Given the description of an element on the screen output the (x, y) to click on. 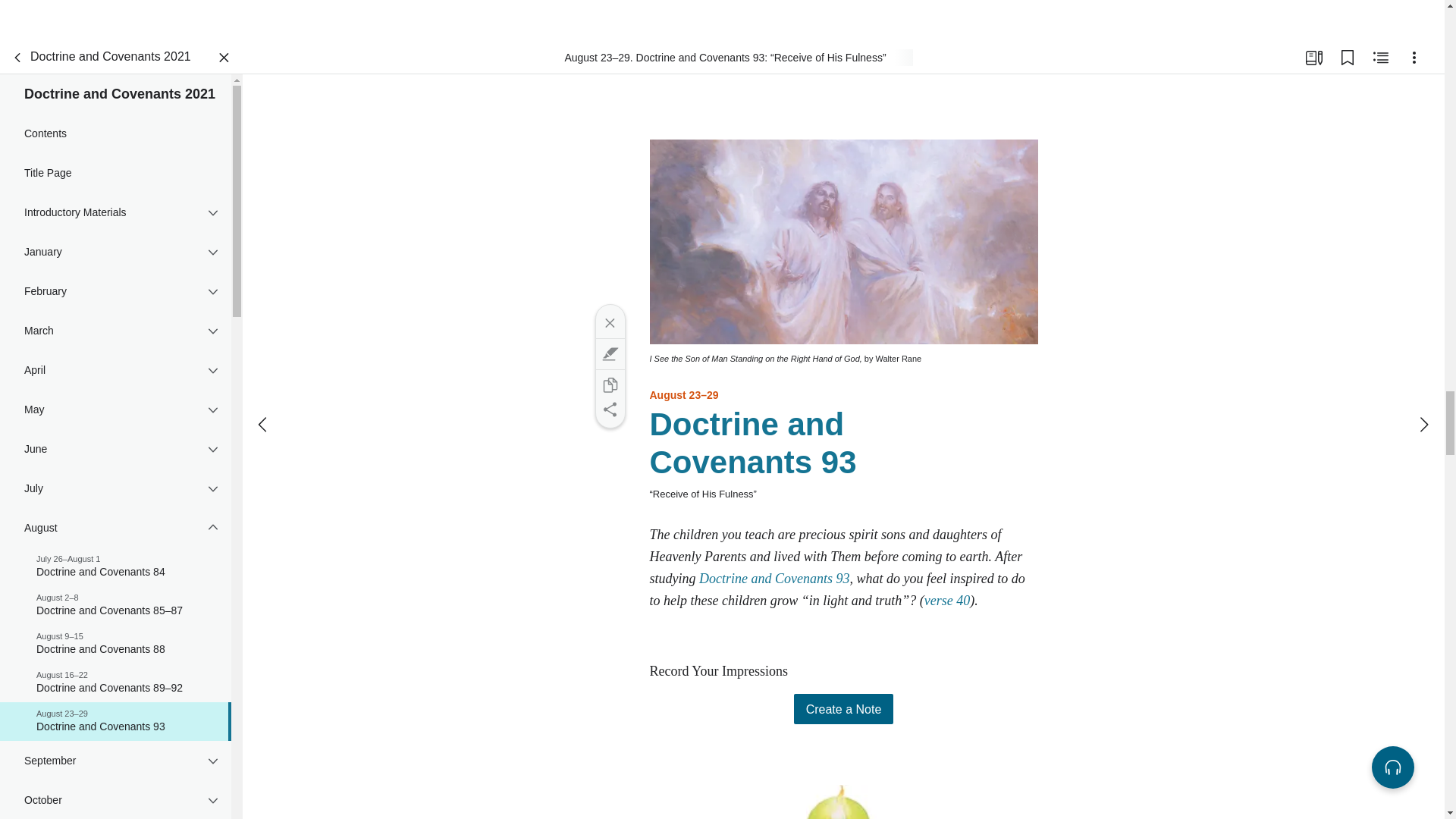
Related Content (1380, 57)
Mark (608, 354)
Doctrine and Covenants 2021 (97, 57)
Options (1414, 57)
Doctrine and Covenants 93 (752, 442)
Share (608, 409)
Doctrine and Covenants 93 (773, 578)
Copy (608, 385)
Study Sets (1313, 57)
Table of Contents (17, 57)
